Given the description of an element on the screen output the (x, y) to click on. 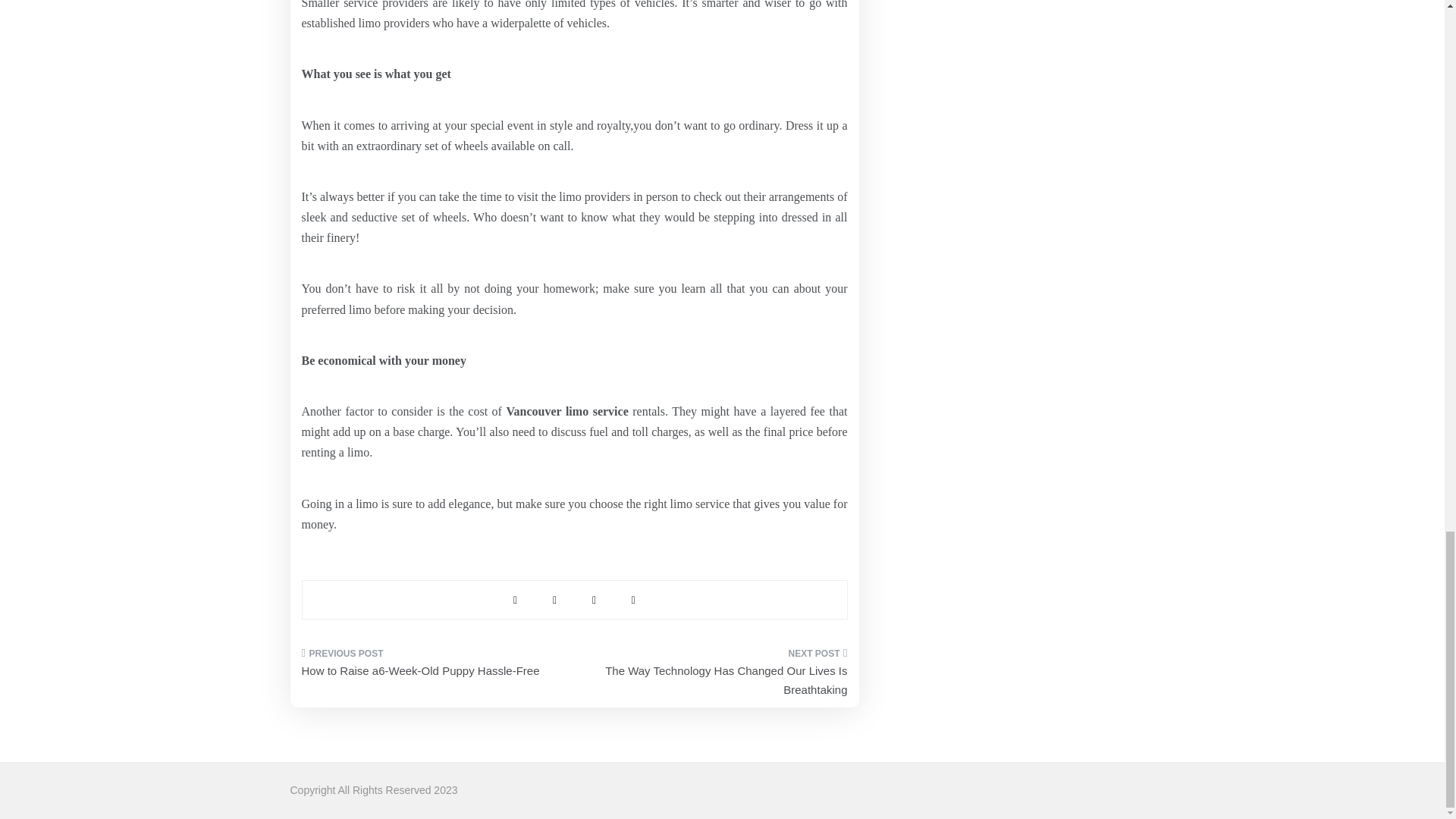
The Way Technology Has Changed Our Lives Is Breathtaking (716, 676)
How to Raise a6-Week-Old Puppy Hassle-Free (432, 667)
